Given the description of an element on the screen output the (x, y) to click on. 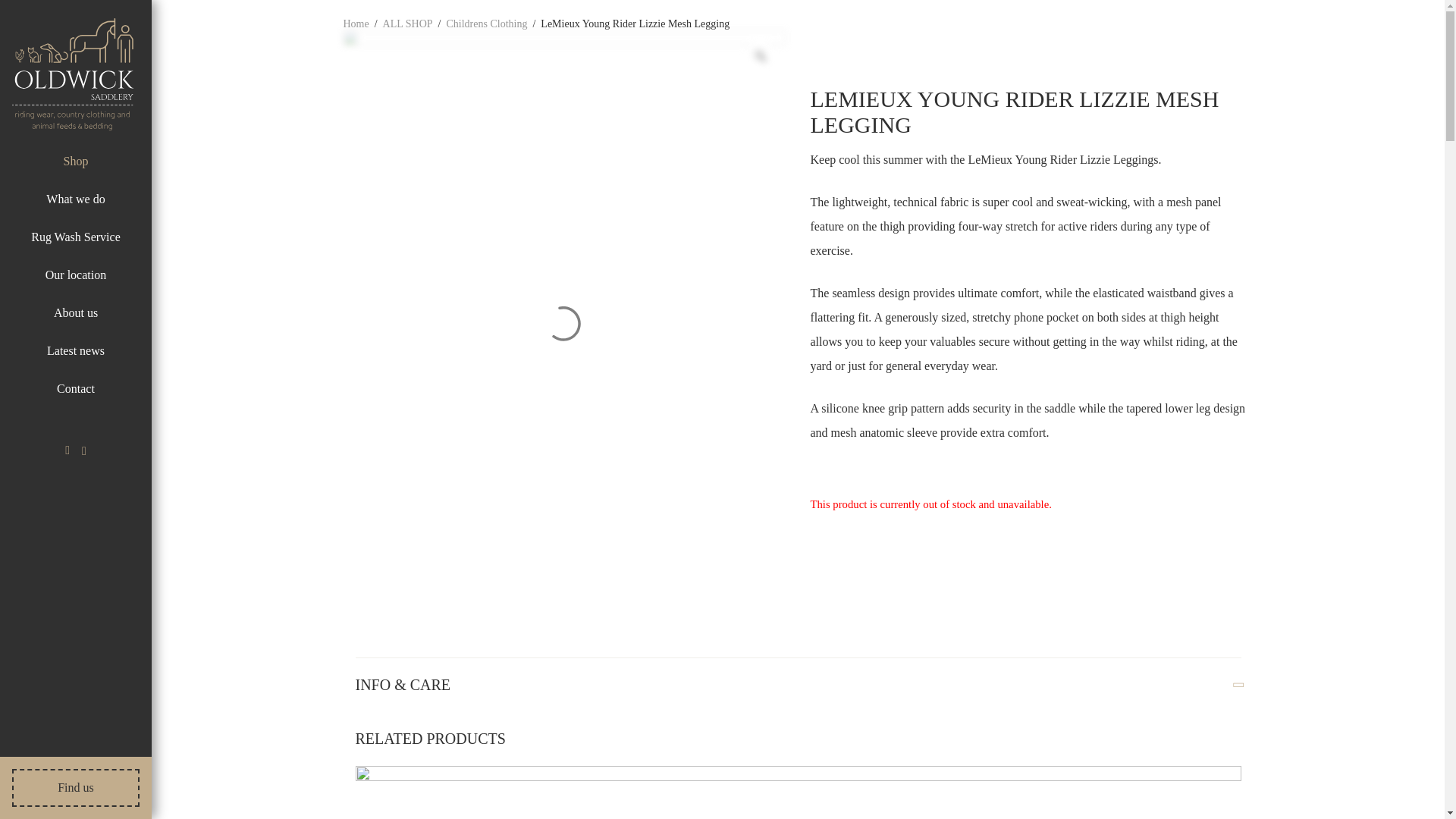
Home (355, 24)
About us (75, 313)
Contact (75, 388)
LeMieux Young Rider Polo Shirt (797, 792)
Find us (75, 787)
What we do (75, 199)
Oldwick Saddlery (72, 74)
Latest news (75, 350)
ALL SHOP (407, 24)
Shop (76, 161)
Childrens Clothing (486, 24)
Our location (75, 274)
Rug Wash Service (75, 237)
